Given the description of an element on the screen output the (x, y) to click on. 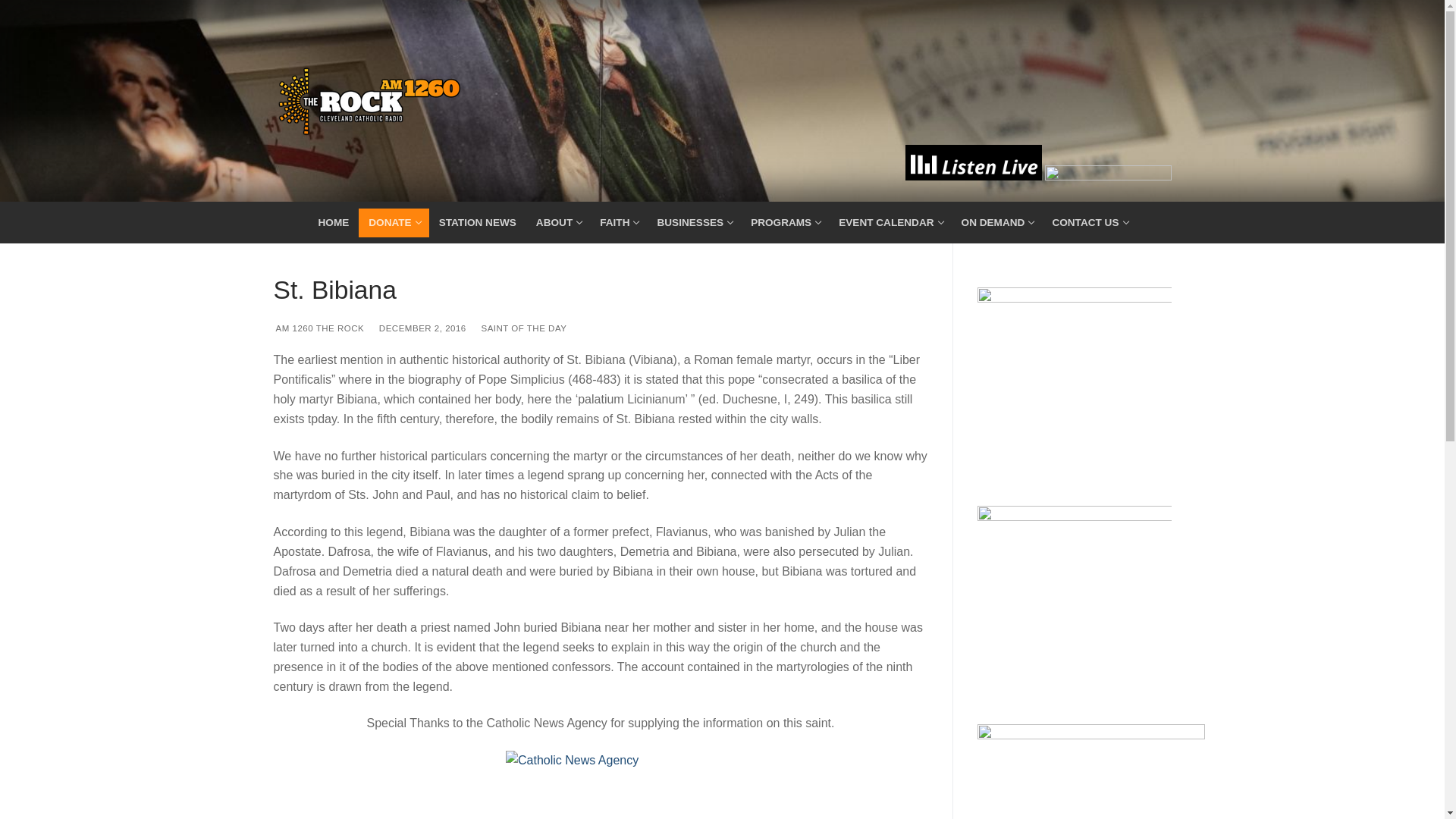
HOME (332, 222)
STATION NEWS (477, 222)
